Given the description of an element on the screen output the (x, y) to click on. 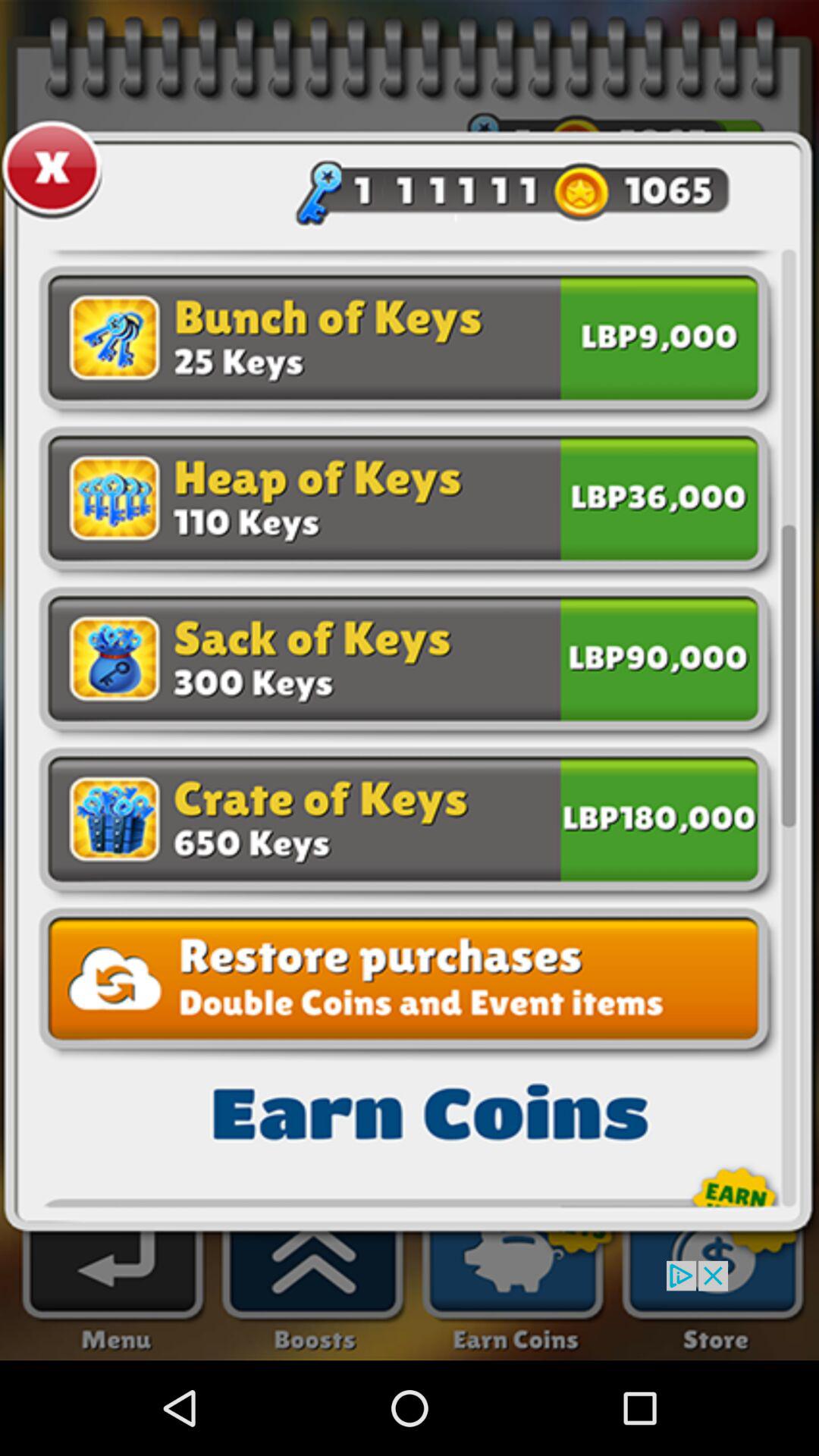
buy bunch of keys for lbp 9,000 (659, 341)
